Given the description of an element on the screen output the (x, y) to click on. 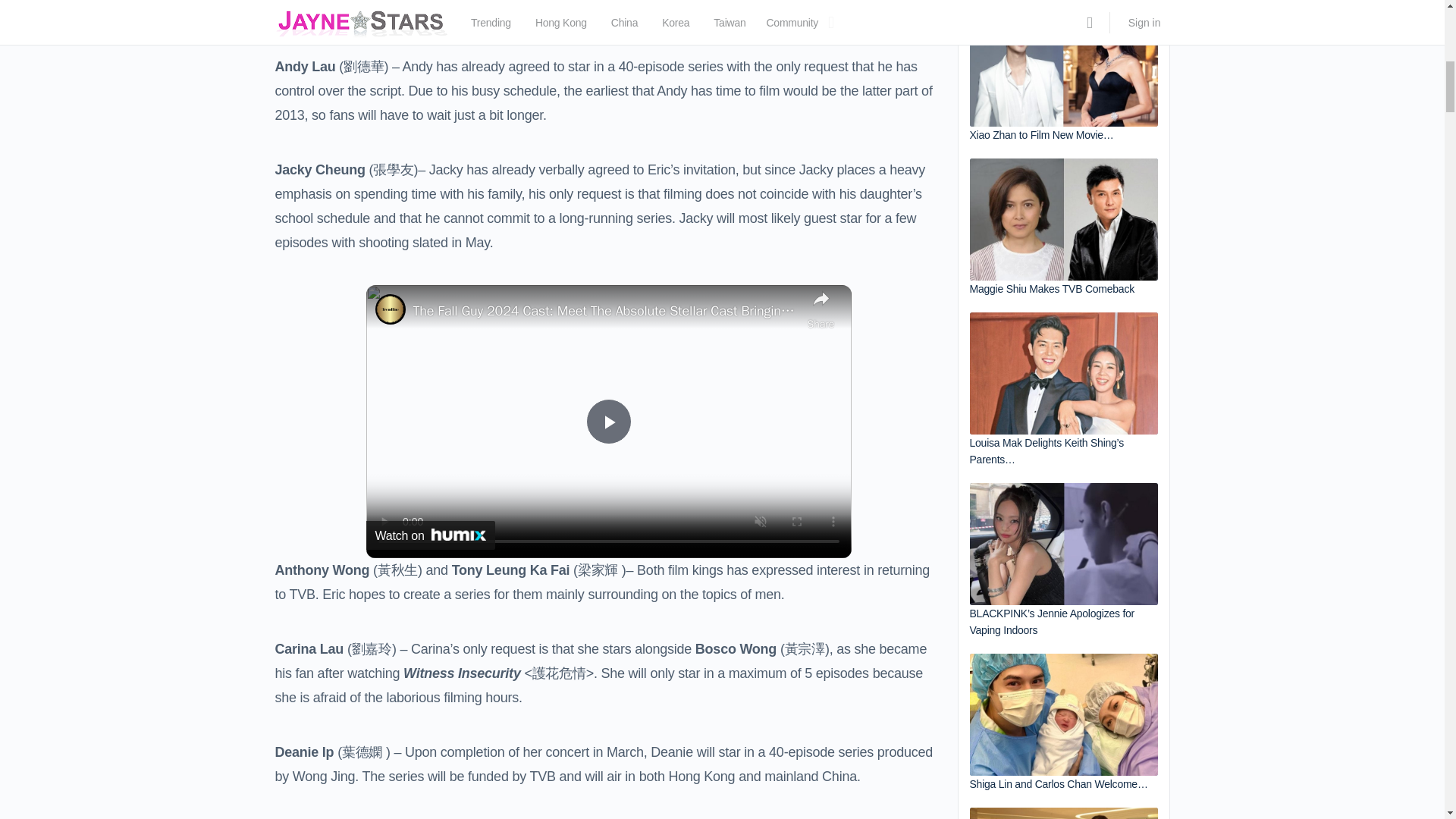
Play Video (607, 421)
Play Video (607, 421)
